Given the description of an element on the screen output the (x, y) to click on. 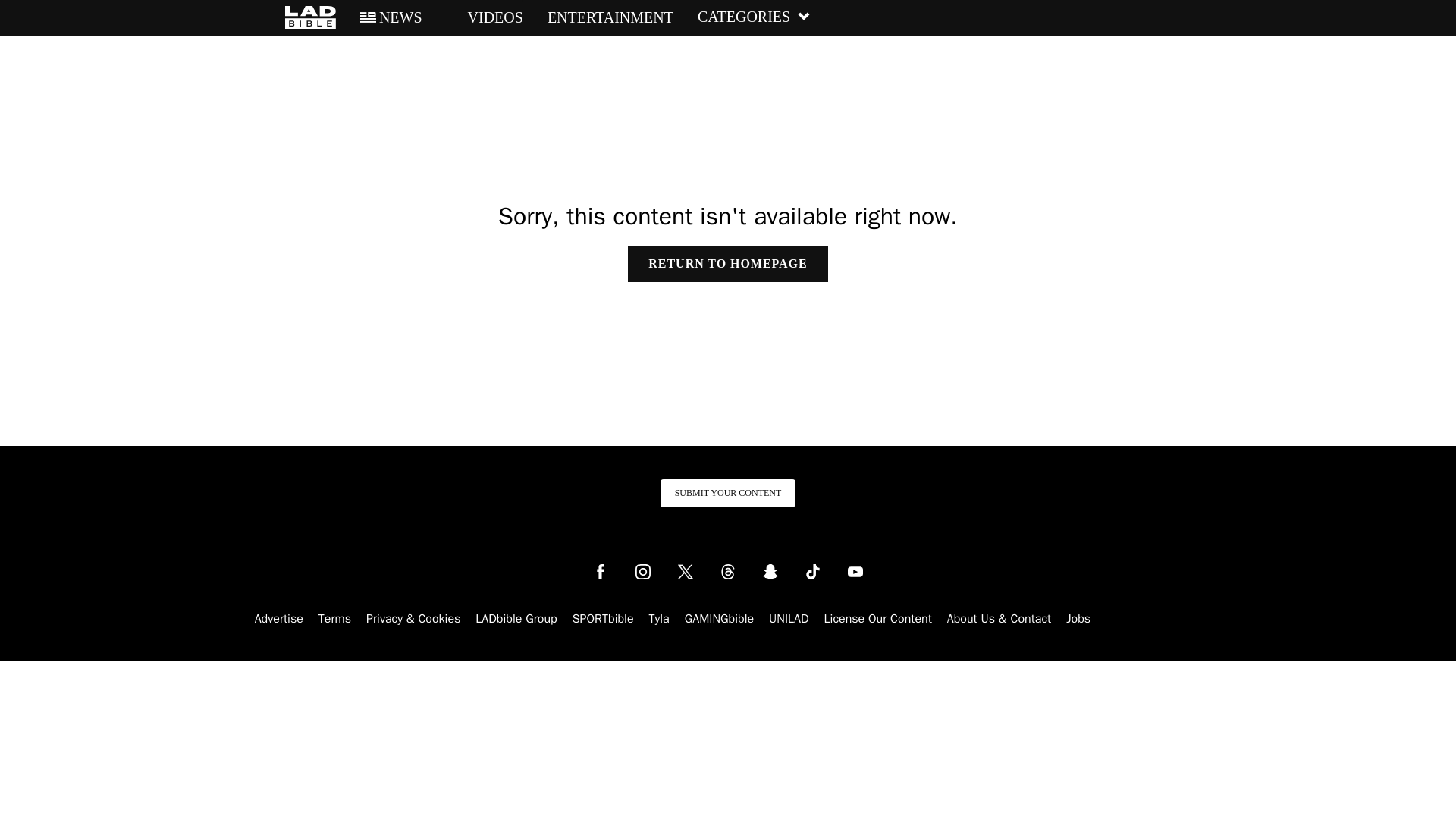
CATEGORIES (753, 17)
NEWS (390, 17)
ENTERTAINMENT (609, 17)
Advertise (278, 618)
RETURN TO HOMEPAGE (727, 263)
VIDEOS (484, 17)
